Given the description of an element on the screen output the (x, y) to click on. 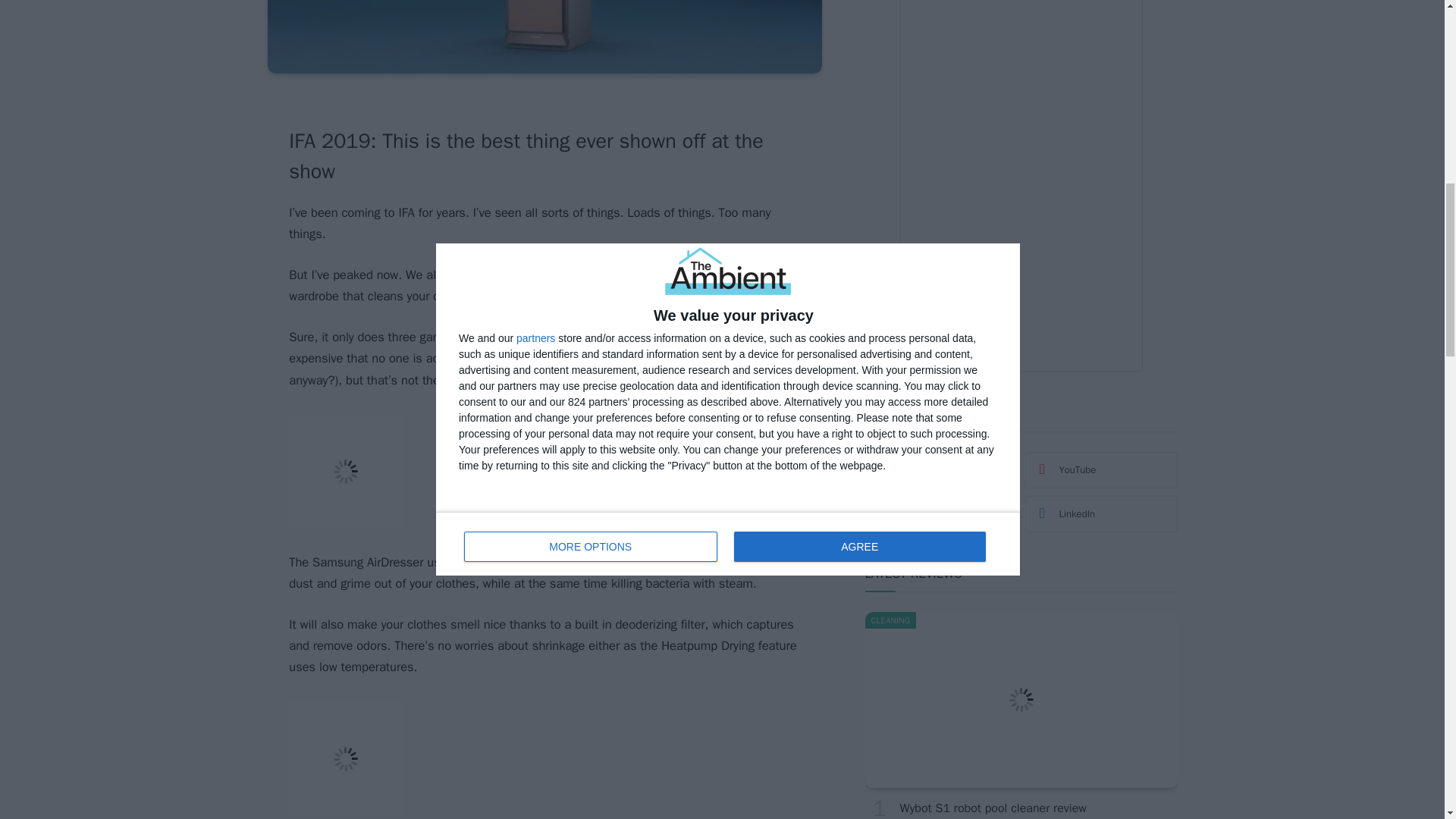
Samsung AirDresser is quite the thing (544, 37)
